Given the description of an element on the screen output the (x, y) to click on. 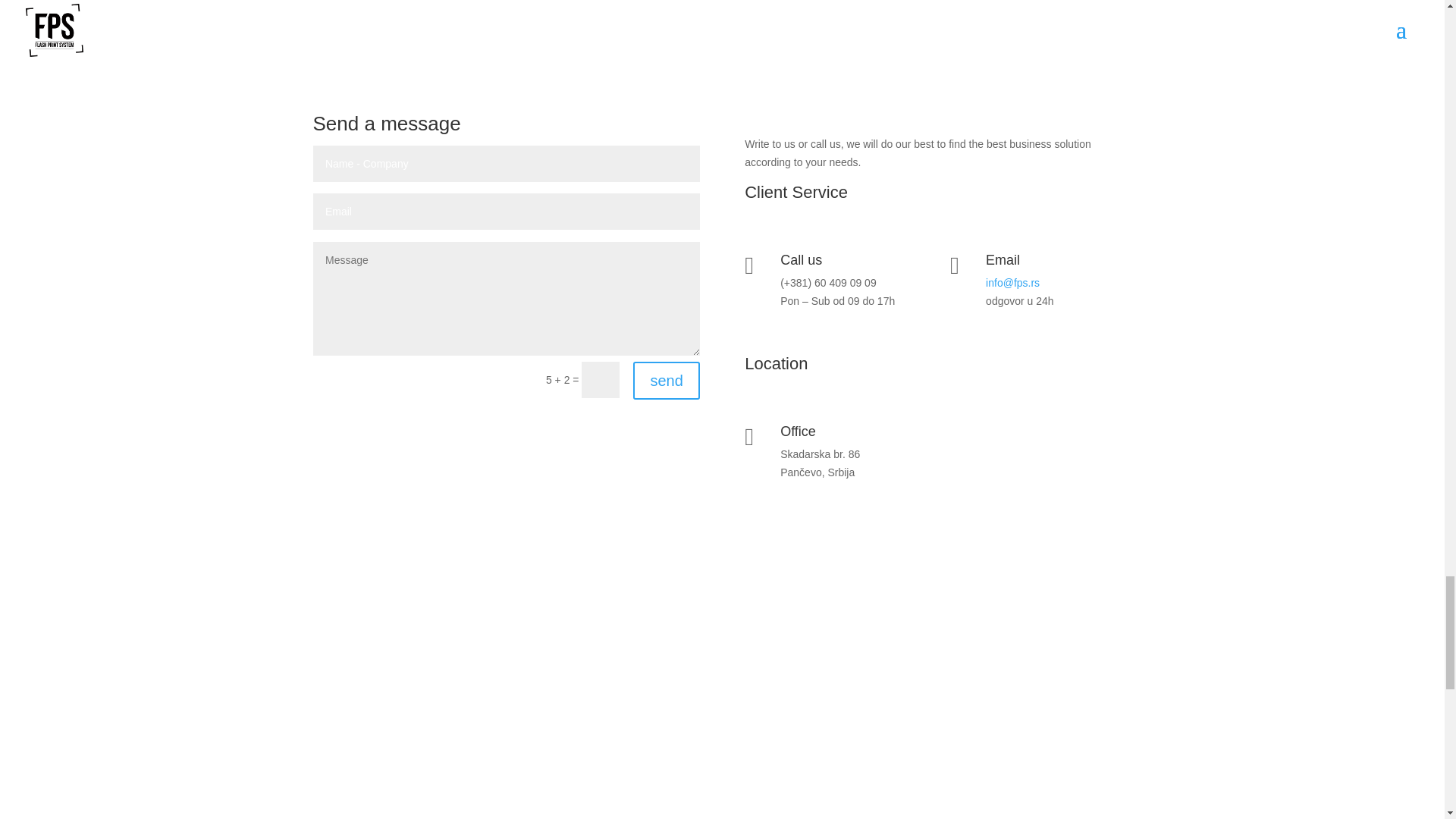
send (665, 380)
